Given the description of an element on the screen output the (x, y) to click on. 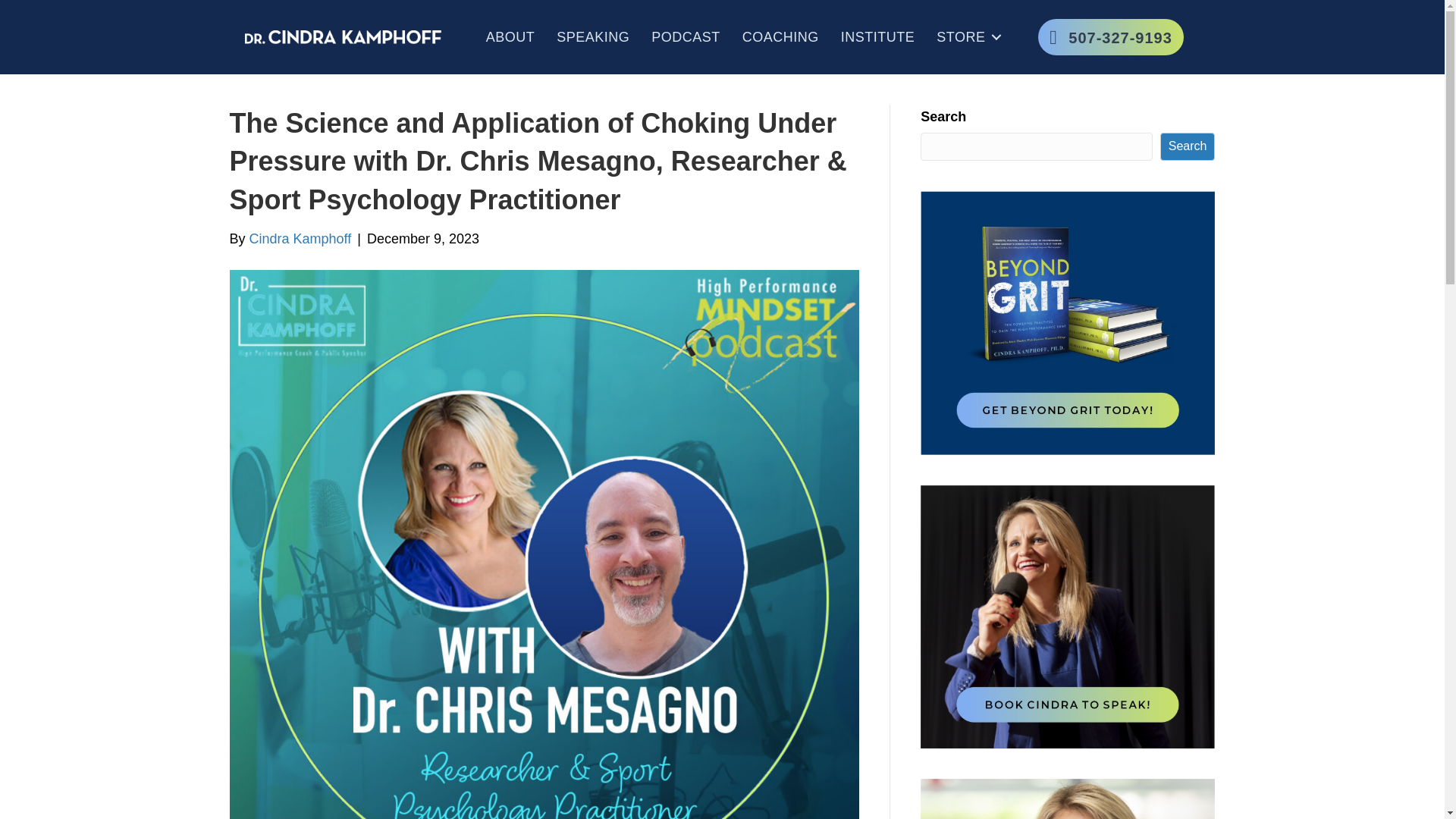
507-327-9193 (1110, 36)
SPEAKING (593, 36)
Search (1187, 145)
INSTITUTE (877, 36)
PODCAST (685, 36)
ABOUT (511, 36)
COACHING (780, 36)
logo (342, 37)
Cindra Kamphoff (300, 238)
STORE (966, 36)
